Given the description of an element on the screen output the (x, y) to click on. 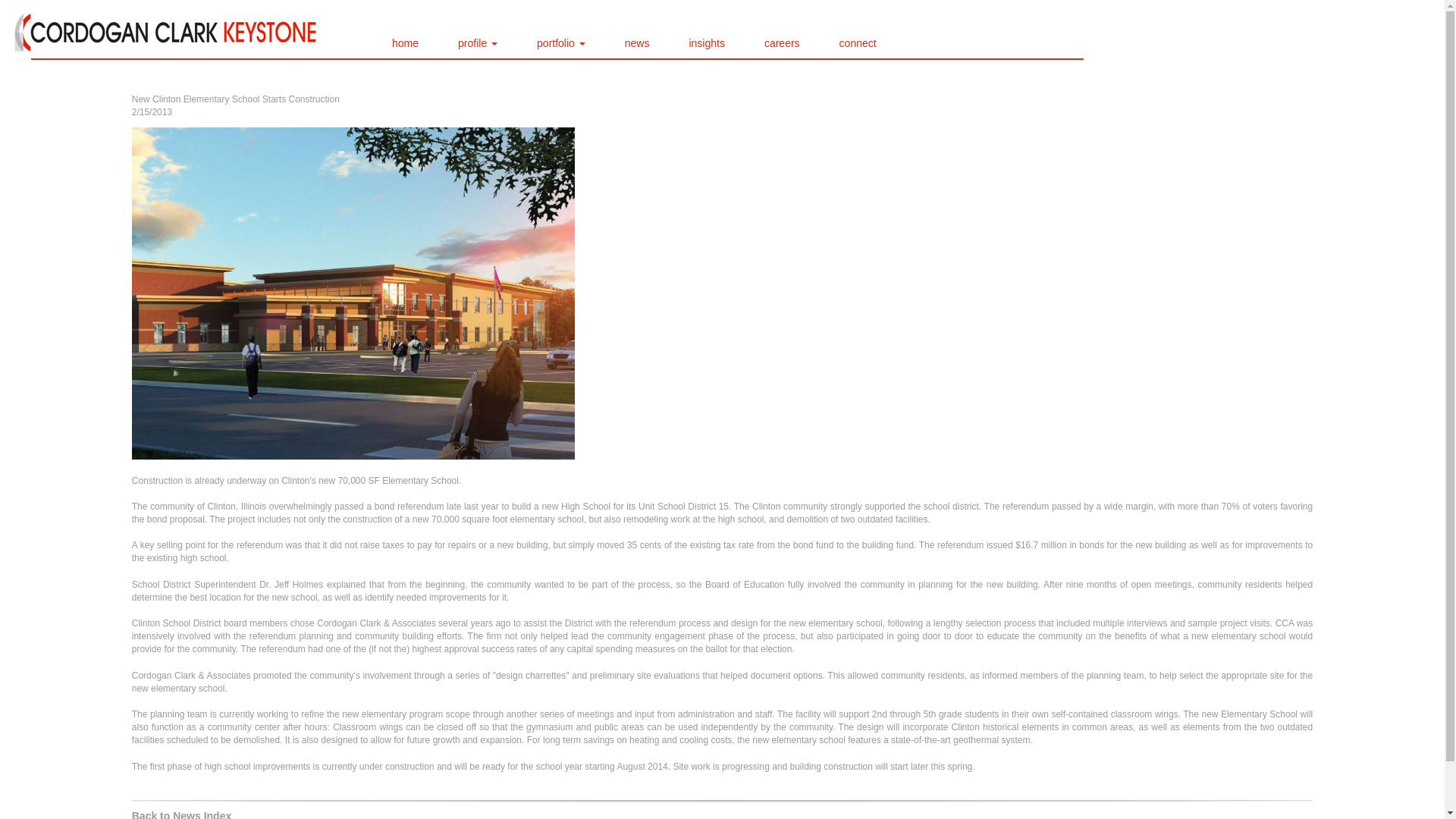
careers (782, 42)
news (637, 42)
profile (477, 42)
home (405, 42)
insights (706, 42)
Back to News Index (181, 814)
portfolio (560, 42)
connect (857, 42)
